Given the description of an element on the screen output the (x, y) to click on. 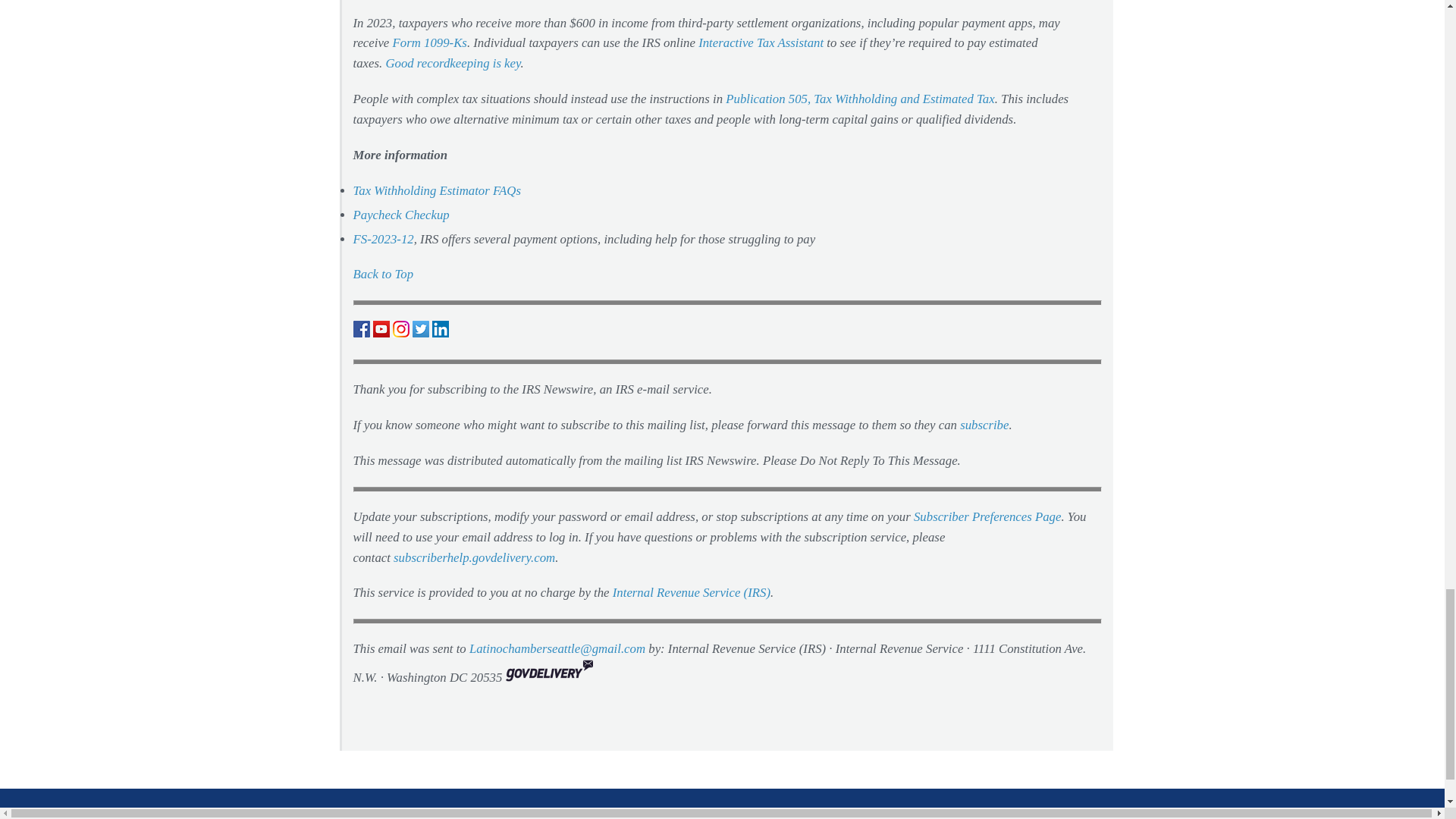
LinkedIn Icon (440, 332)
Twitter Logo (420, 329)
Instagram Logo (401, 329)
Facebook Logo (361, 329)
You Tube Videos (381, 332)
LinkedIn Logo (440, 329)
YouTube Logo (381, 329)
